Given the description of an element on the screen output the (x, y) to click on. 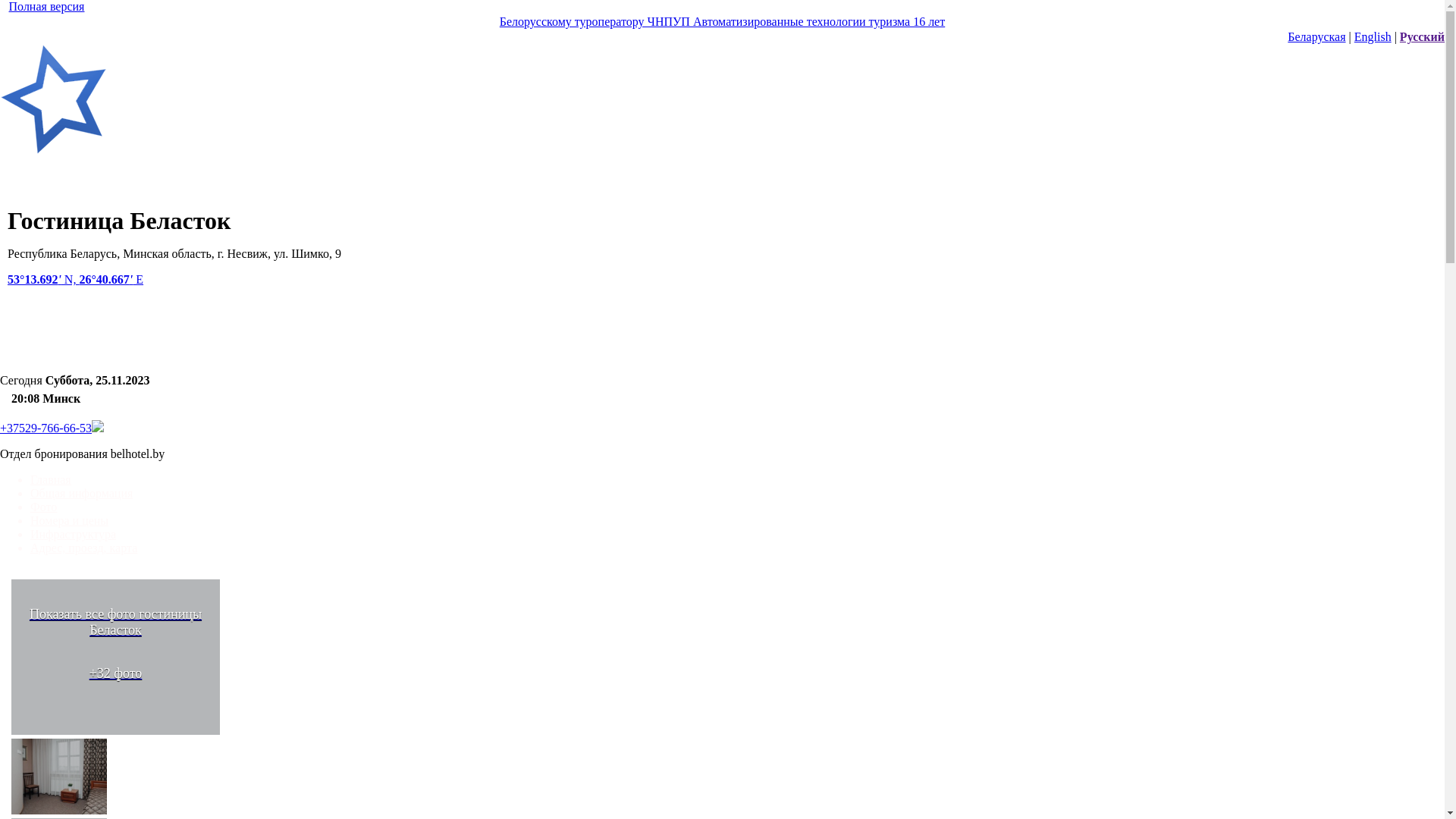
+37529-766-66-53 Element type: text (45, 427)
English Element type: text (1372, 36)
